Given the description of an element on the screen output the (x, y) to click on. 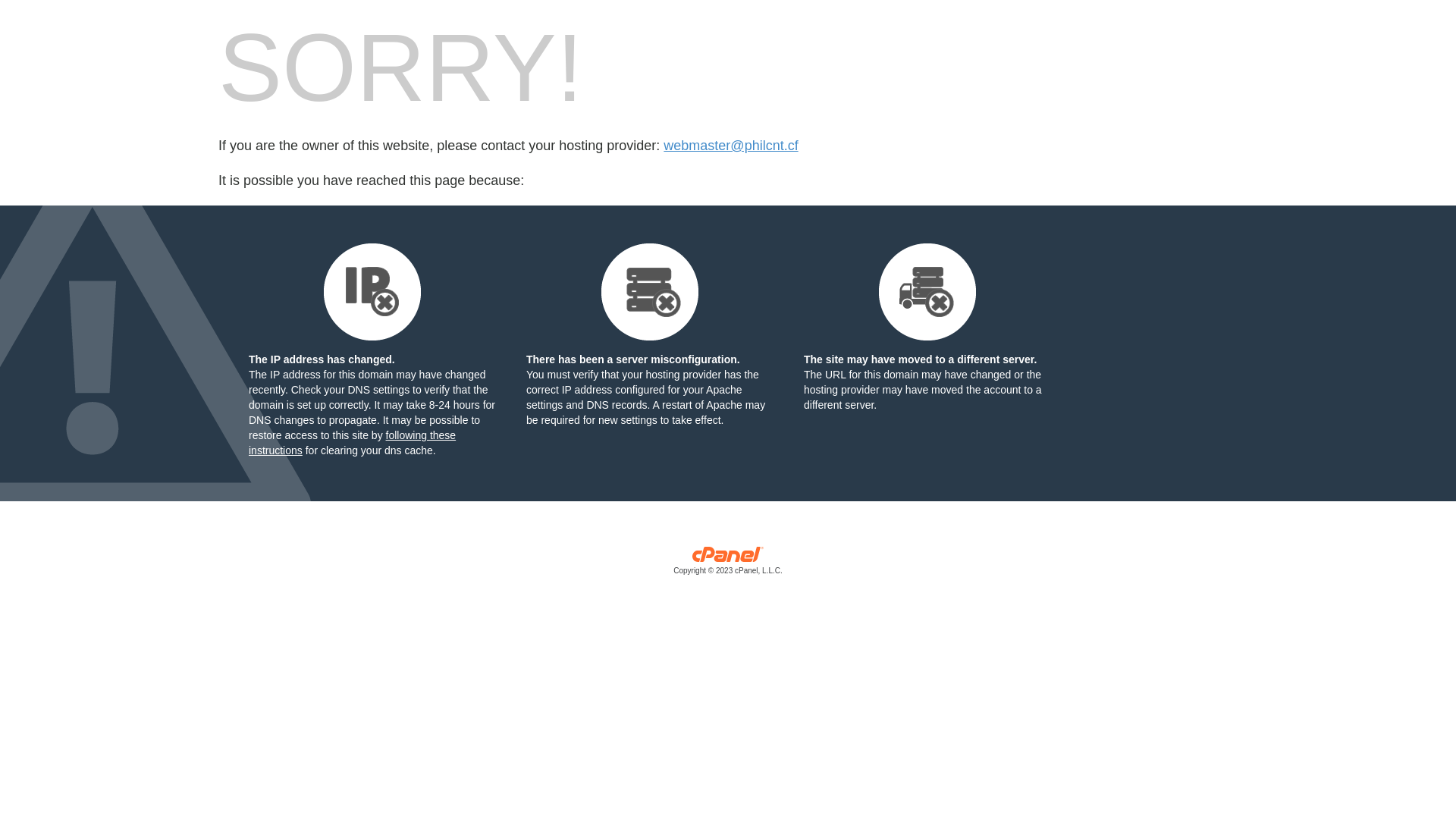
following these instructions Element type: text (351, 442)
webmaster@philcnt.cf Element type: text (730, 145)
